Given the description of an element on the screen output the (x, y) to click on. 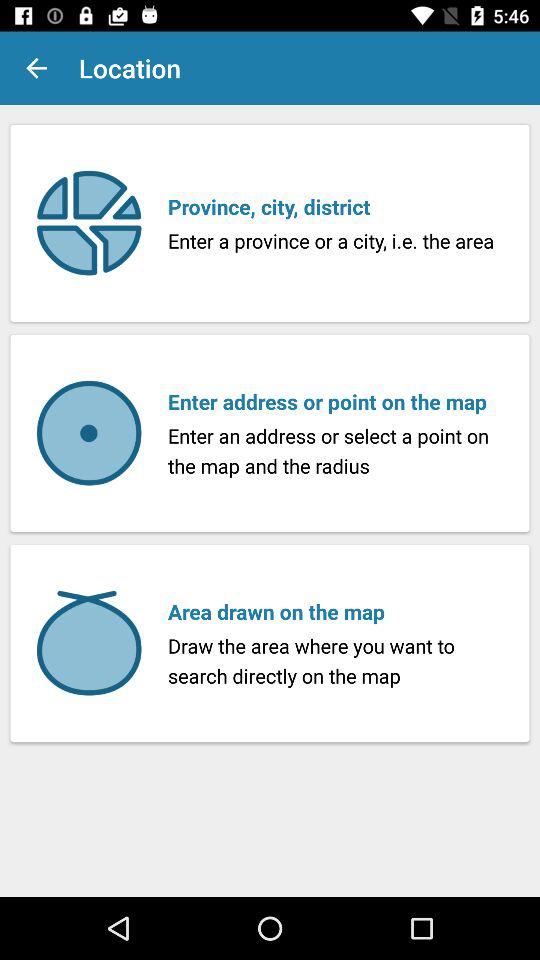
press the icon next to the location (36, 68)
